Given the description of an element on the screen output the (x, y) to click on. 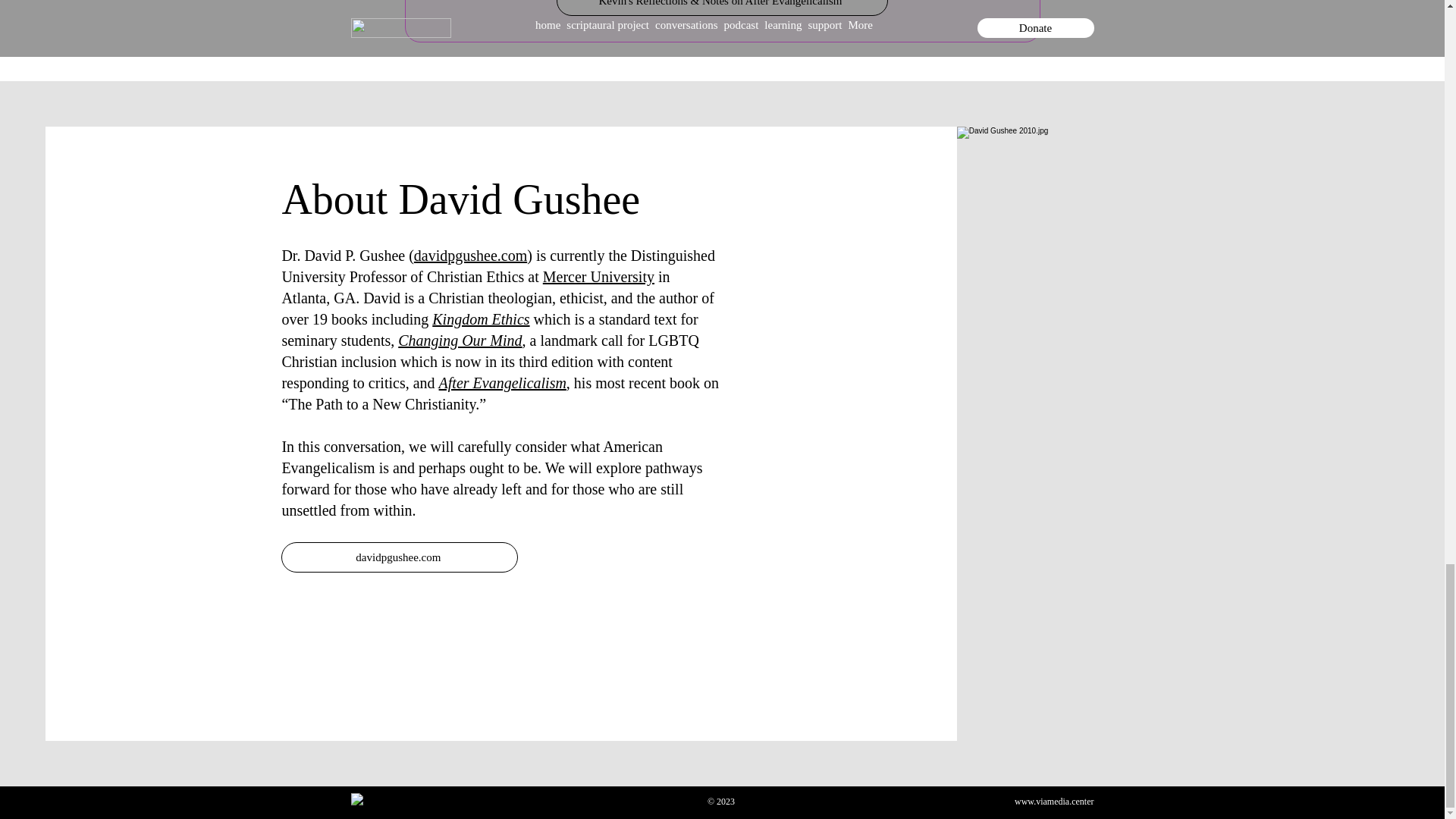
davidpgushee.com (470, 255)
After Evangelicalism, (504, 382)
Changing Our Mind (459, 340)
davidpgushee.com (399, 557)
Mercer University (598, 276)
www.viamedia.center (1054, 801)
Kingdom Ethics (480, 319)
